Given the description of an element on the screen output the (x, y) to click on. 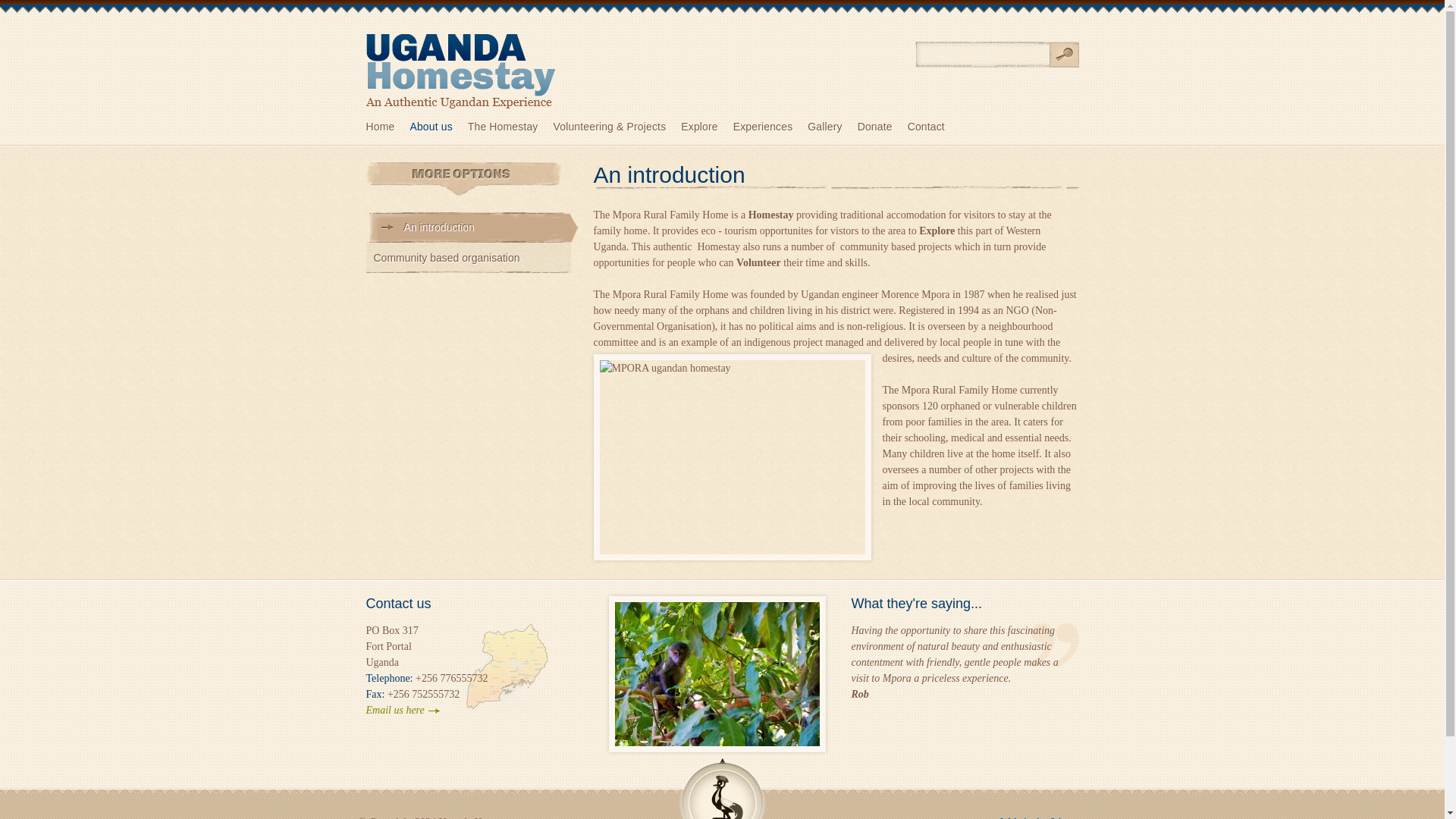
An introduction (477, 233)
Email us here (402, 710)
The Homestay (510, 126)
Experiences (770, 126)
Explore (706, 126)
About us (438, 126)
Community based organisation (467, 257)
Scroll to top (722, 788)
Home (387, 126)
Scroll to top (722, 788)
Donate (882, 126)
Home (387, 126)
Gallery (832, 126)
About us (438, 126)
Contact (933, 126)
